Given the description of an element on the screen output the (x, y) to click on. 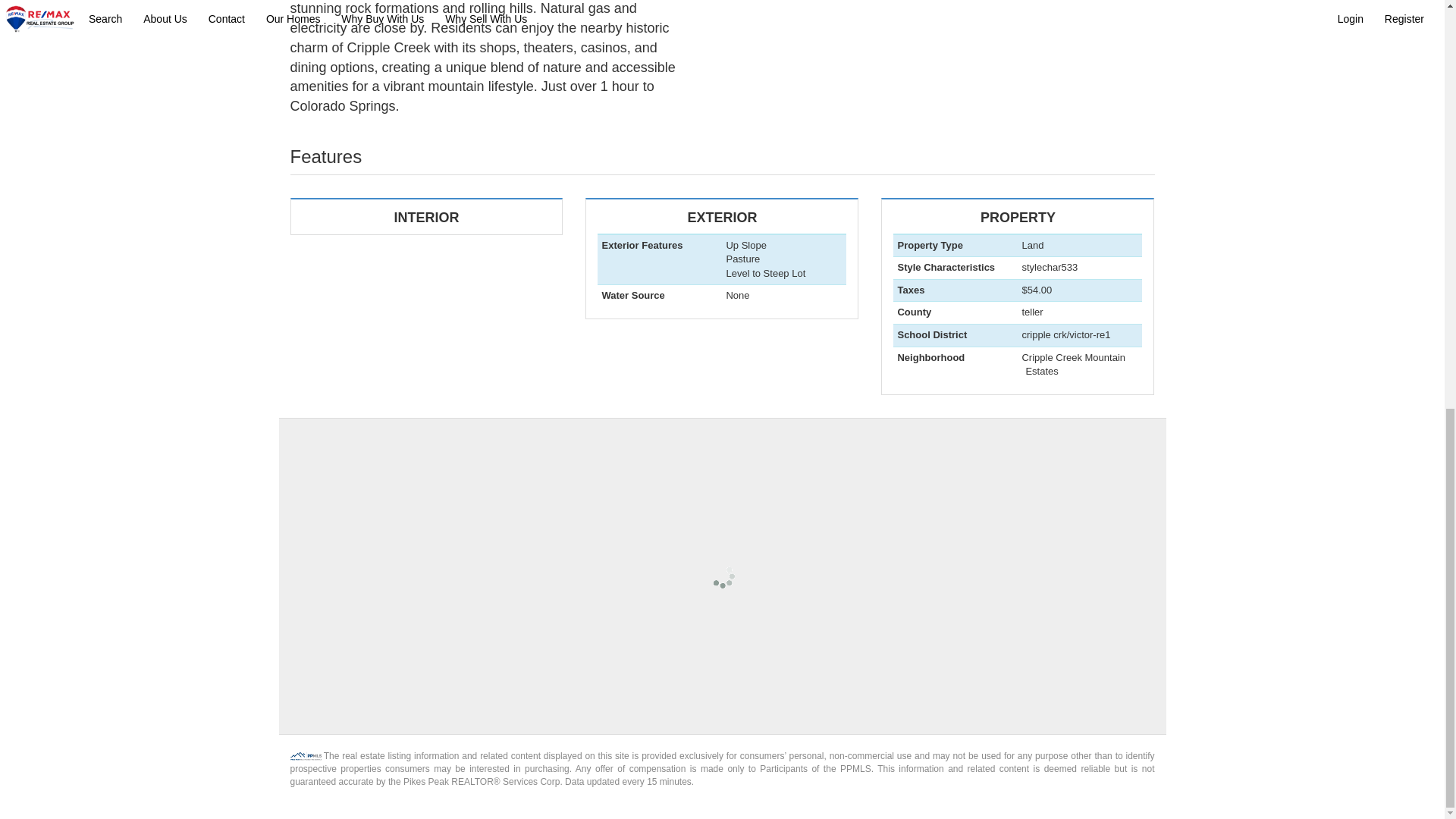
INTERIOR (425, 216)
